Given the description of an element on the screen output the (x, y) to click on. 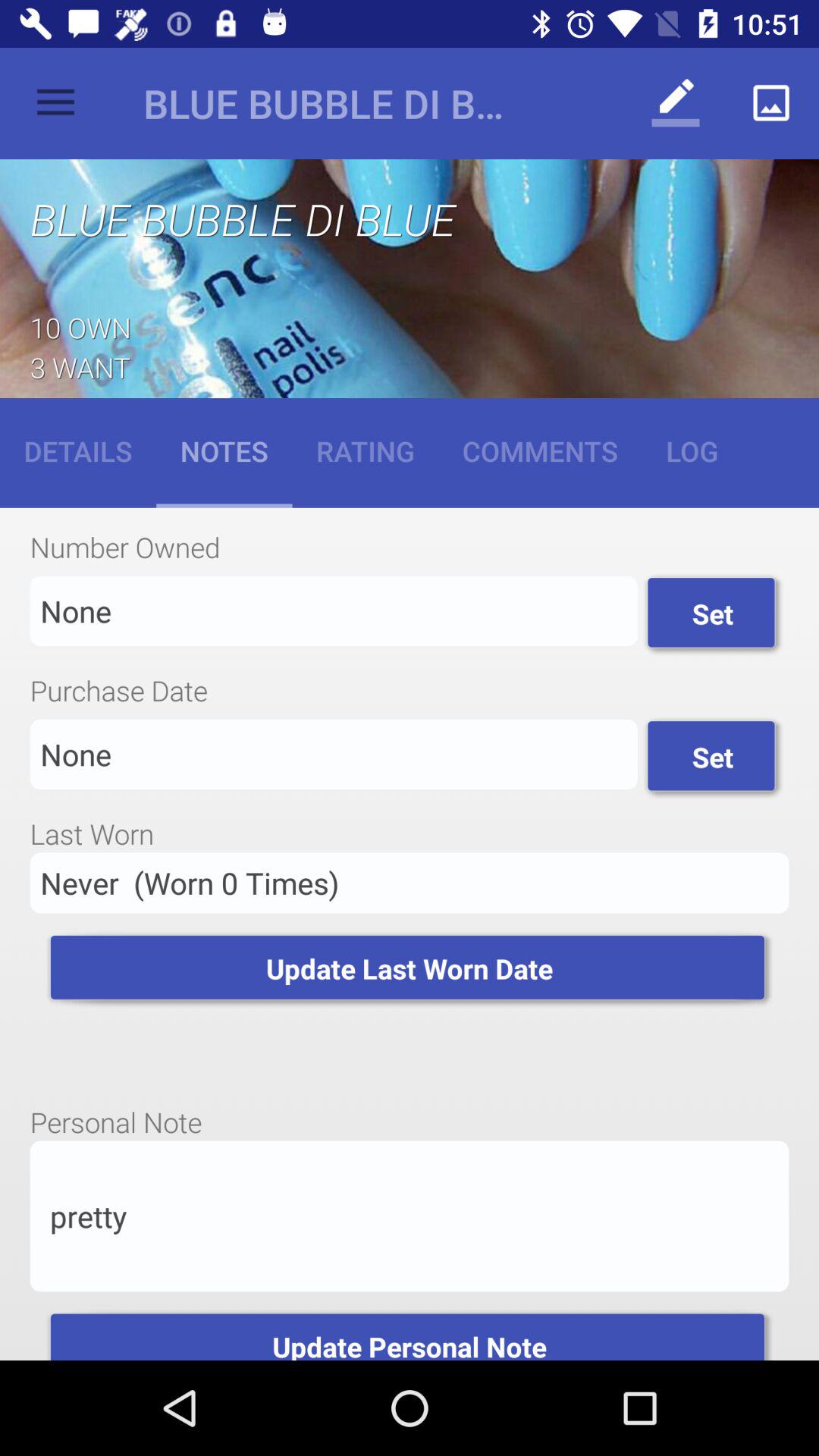
launch the item to the left of blue bubble di item (55, 102)
